Given the description of an element on the screen output the (x, y) to click on. 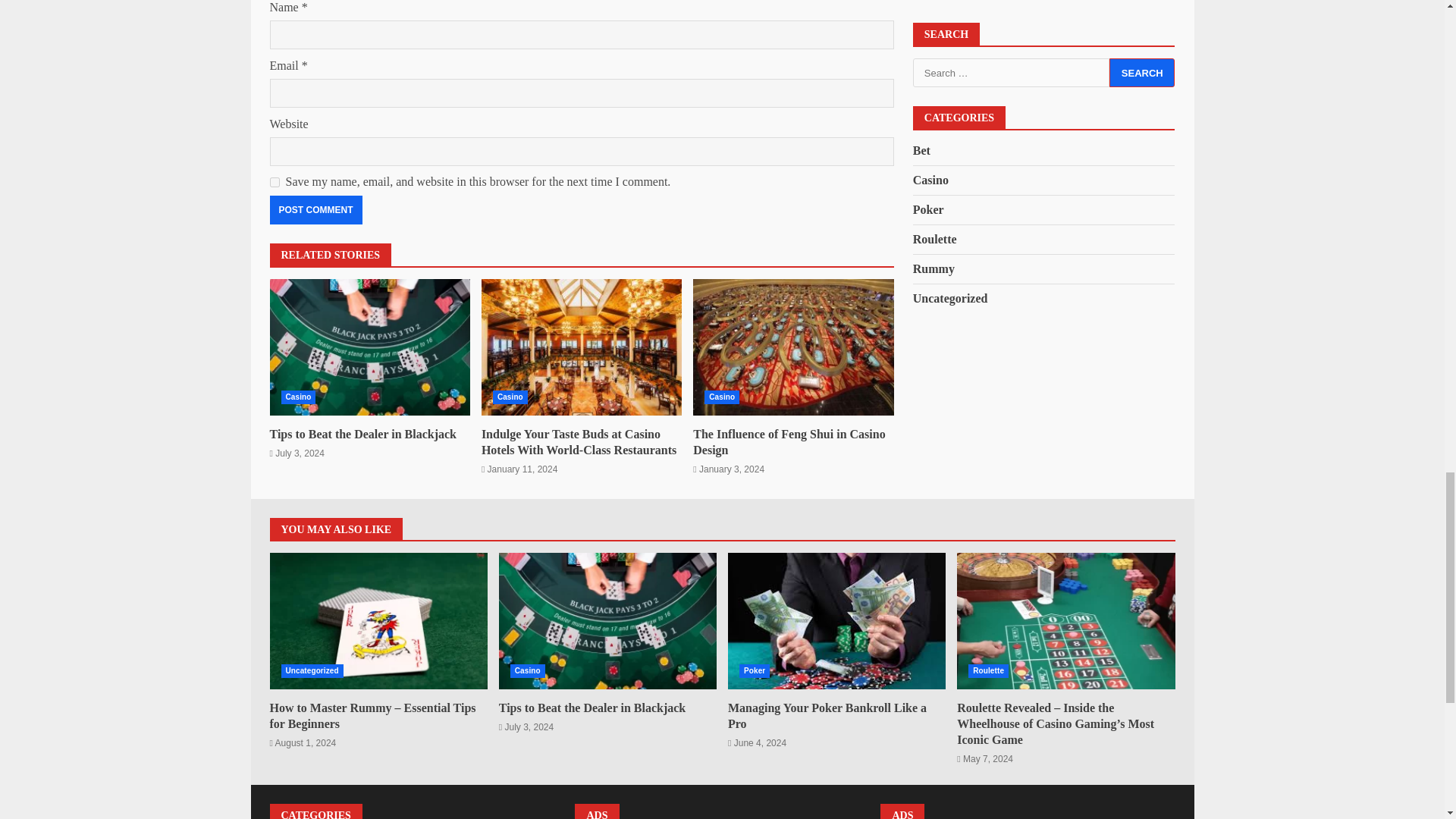
Managing Your Poker Bankroll Like a Pro (836, 620)
The Influence of Feng Shui in Casino Design (793, 347)
Tips to Beat the Dealer in Blackjack (363, 433)
Casino (721, 397)
Post Comment (315, 209)
Post Comment (315, 209)
Tips to Beat the Dealer in Blackjack (592, 707)
Tips to Beat the Dealer in Blackjack (607, 620)
Casino (510, 397)
